Given the description of an element on the screen output the (x, y) to click on. 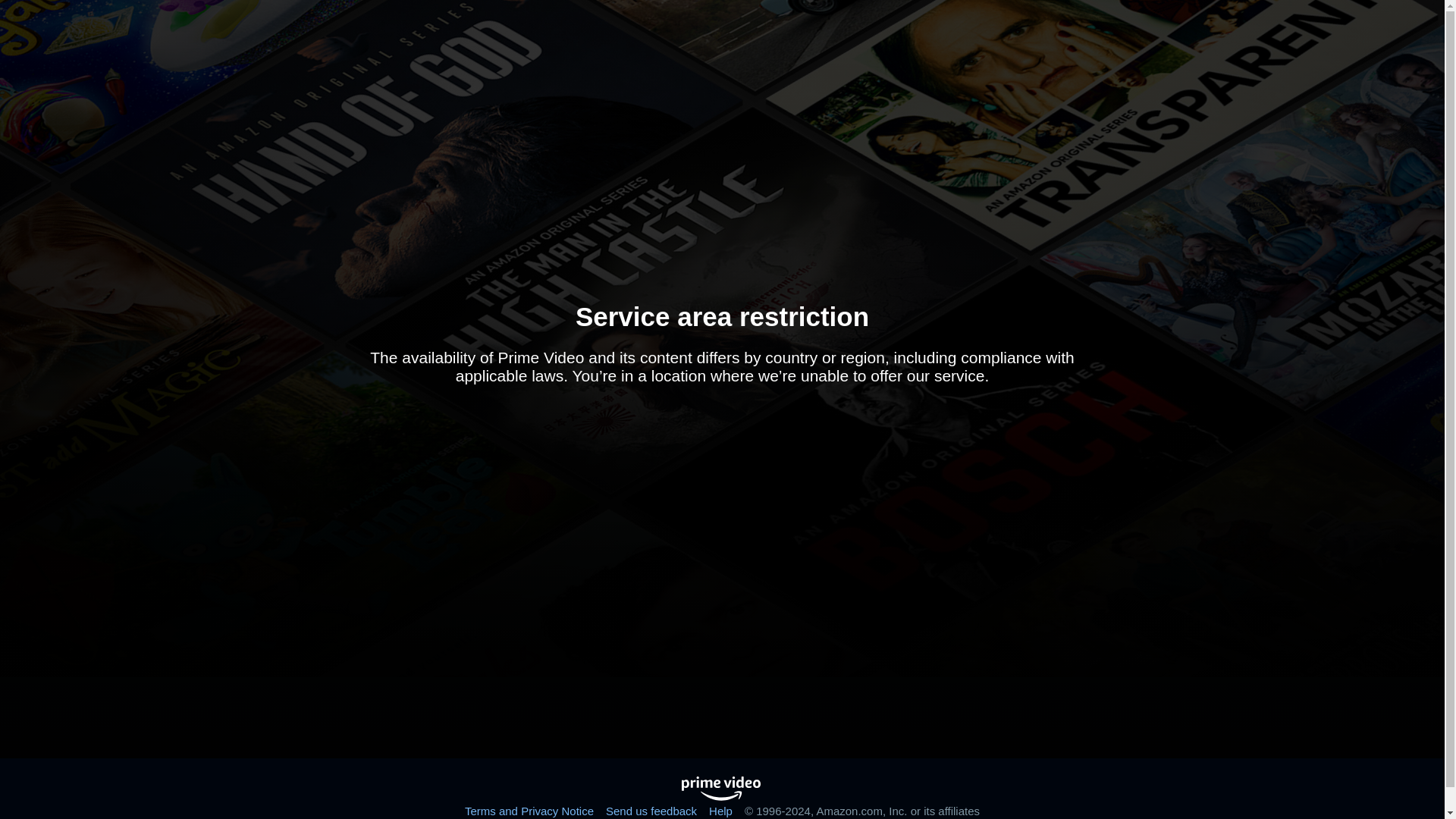
Terms and Privacy Notice (529, 810)
Help (720, 810)
Send us feedback (651, 810)
